Given the description of an element on the screen output the (x, y) to click on. 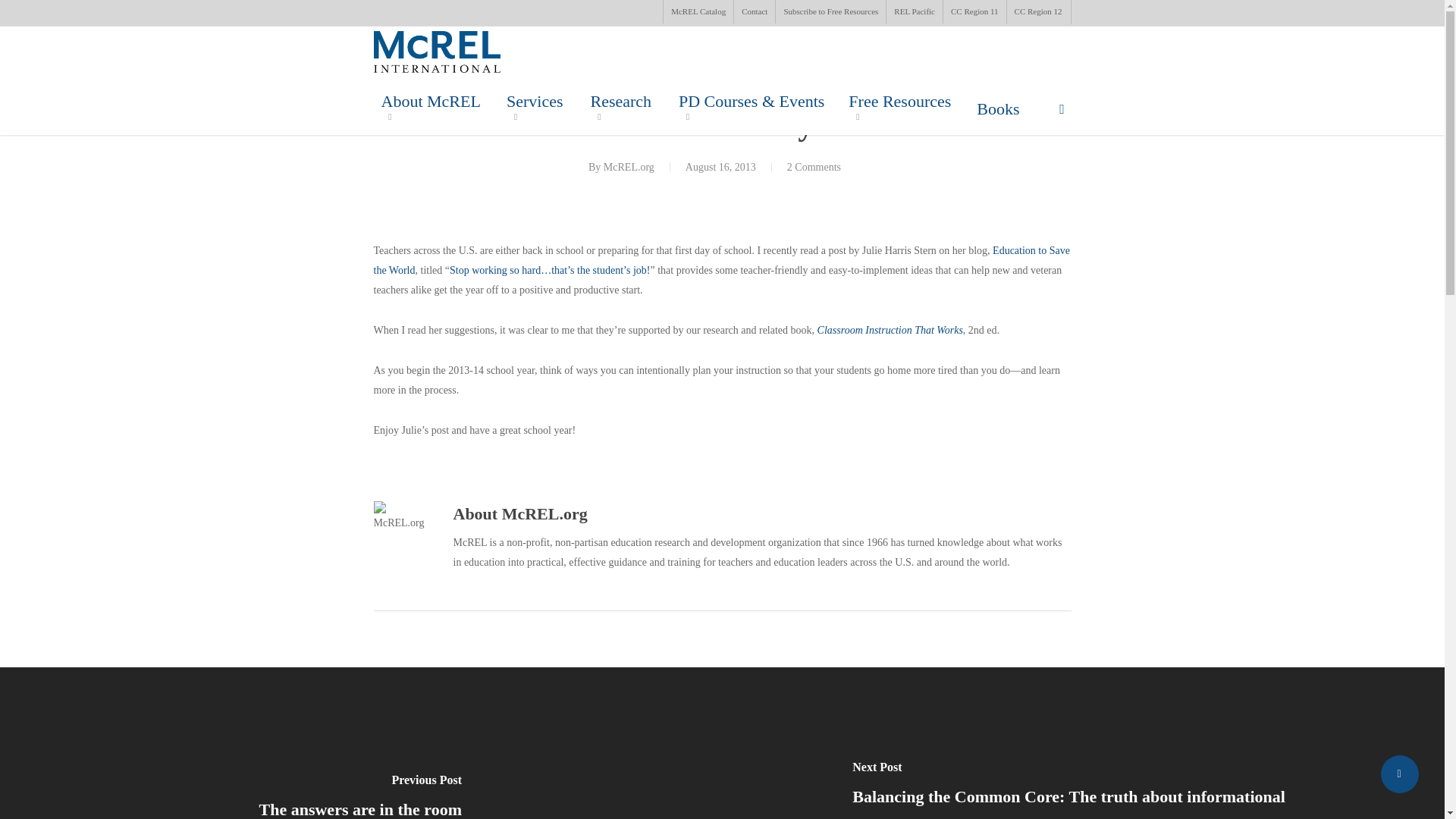
Subscribe to Free Resources (829, 11)
Research (625, 109)
REL Pacific (913, 11)
Contact (753, 11)
CC Region 11 (974, 11)
McREL Catalog (697, 11)
Posts by McREL.org (628, 166)
About McREL (435, 109)
CC Region 12 (1038, 11)
Services (540, 109)
